Given the description of an element on the screen output the (x, y) to click on. 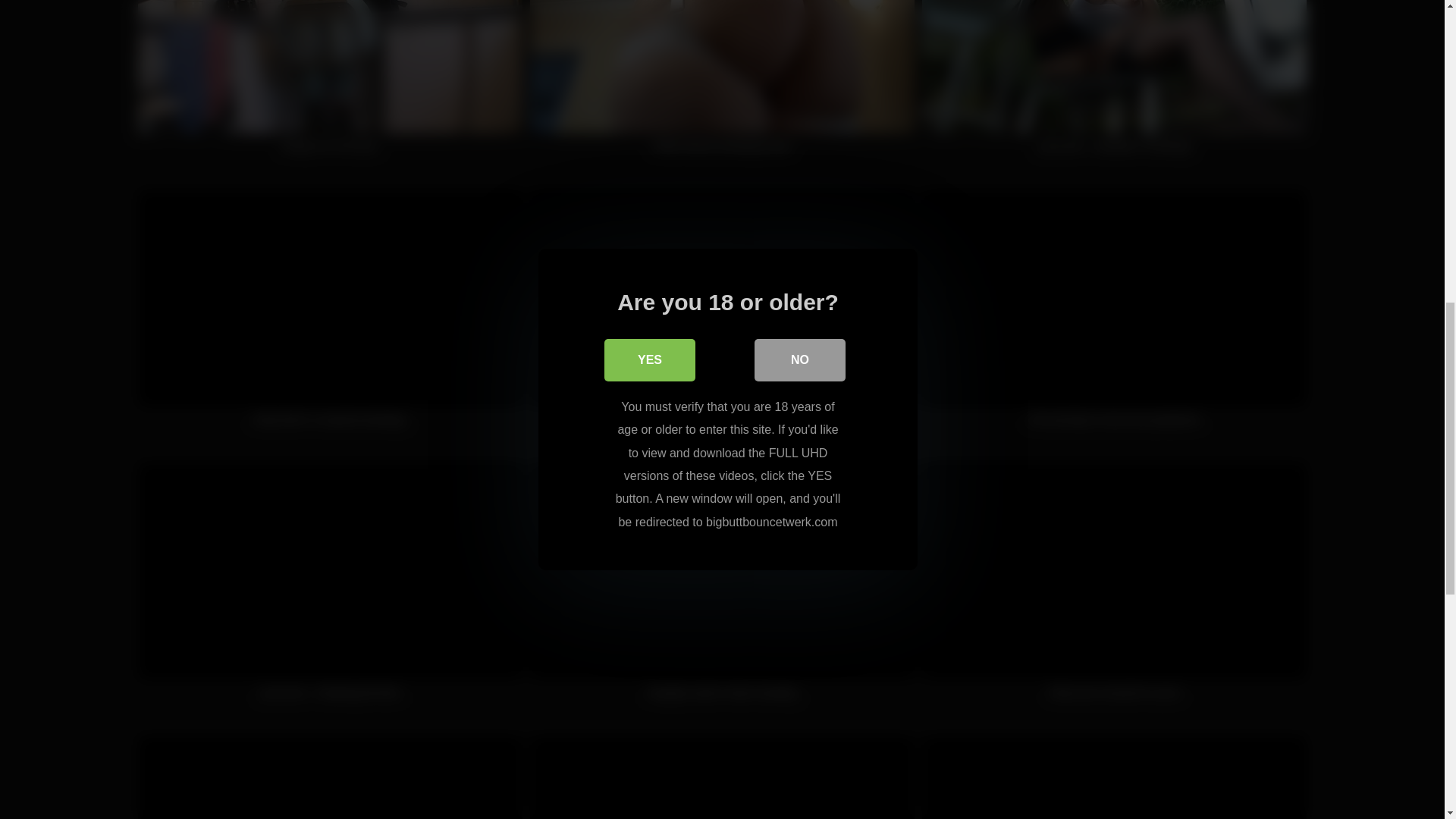
Naughty cop in red pantyhose (721, 316)
Ready For The Gym (330, 85)
Ready For The Gym (330, 85)
Horny MILF masturbating (1113, 777)
Sexy White Lycra Ass Video (721, 777)
Kinky MILF in seamed stockings (330, 316)
White fishnet stockings tease (721, 85)
Naughty maid in sheer stocking (721, 588)
Horny MILF masturbating (1113, 777)
Hot secretary in lycra ass pantyhose (1113, 316)
Kinky MILF in seamed stockings (330, 316)
Shiny Ass Covered In Lycra (1113, 588)
Naughty maid in sheer stocking (721, 588)
Sexy White Lycra Ass Video (721, 777)
Naughty cop in red pantyhose (721, 316)
